Given the description of an element on the screen output the (x, y) to click on. 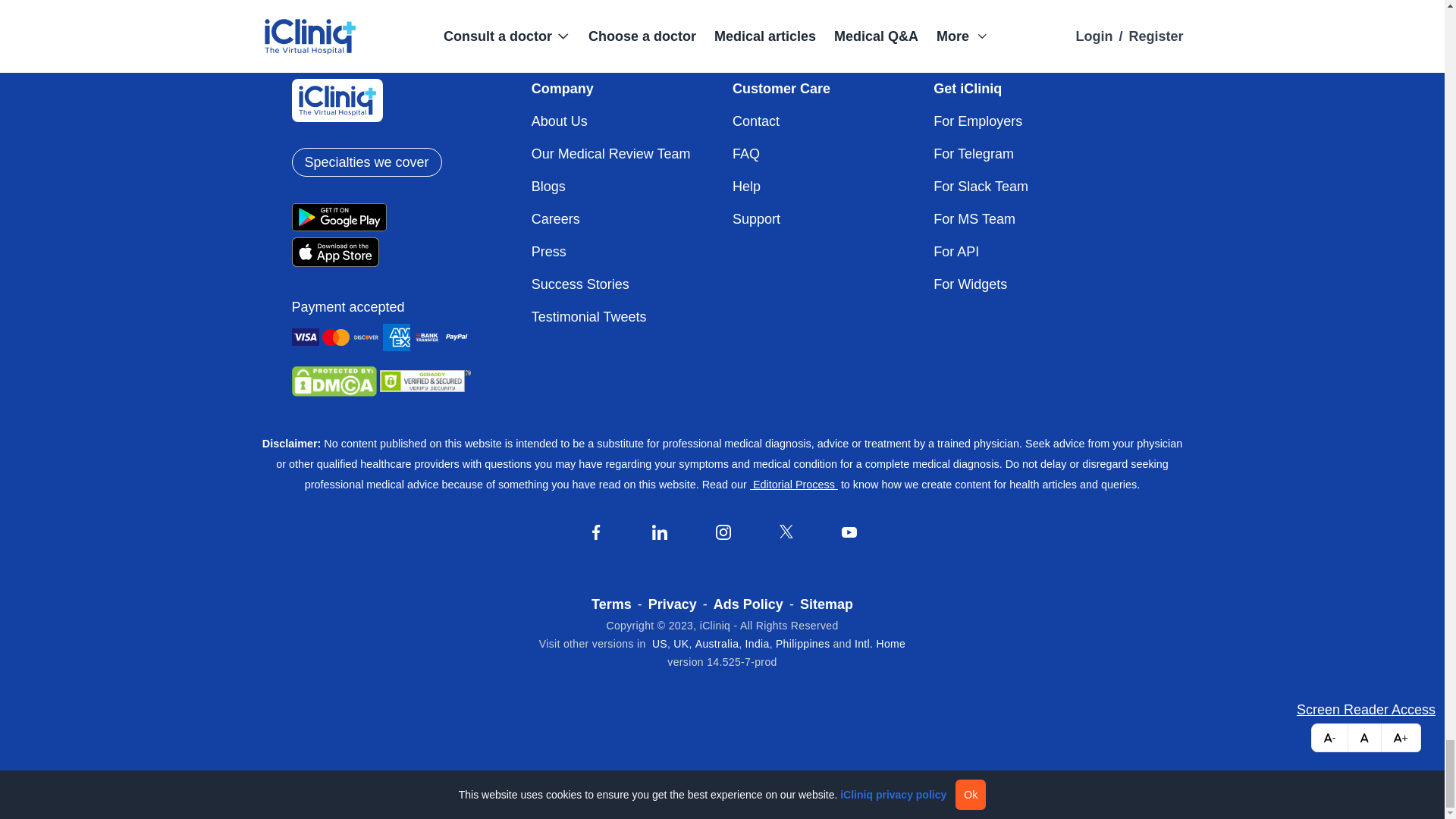
facebook (596, 531)
iCliniq Australia (717, 644)
instagram (723, 531)
iCliniq America (659, 644)
youtube (849, 531)
godaddy ssl seal (425, 381)
DMCA.com Protection Status (334, 381)
twitter (785, 531)
linkedin (659, 531)
iCliniq UK (680, 644)
